Given the description of an element on the screen output the (x, y) to click on. 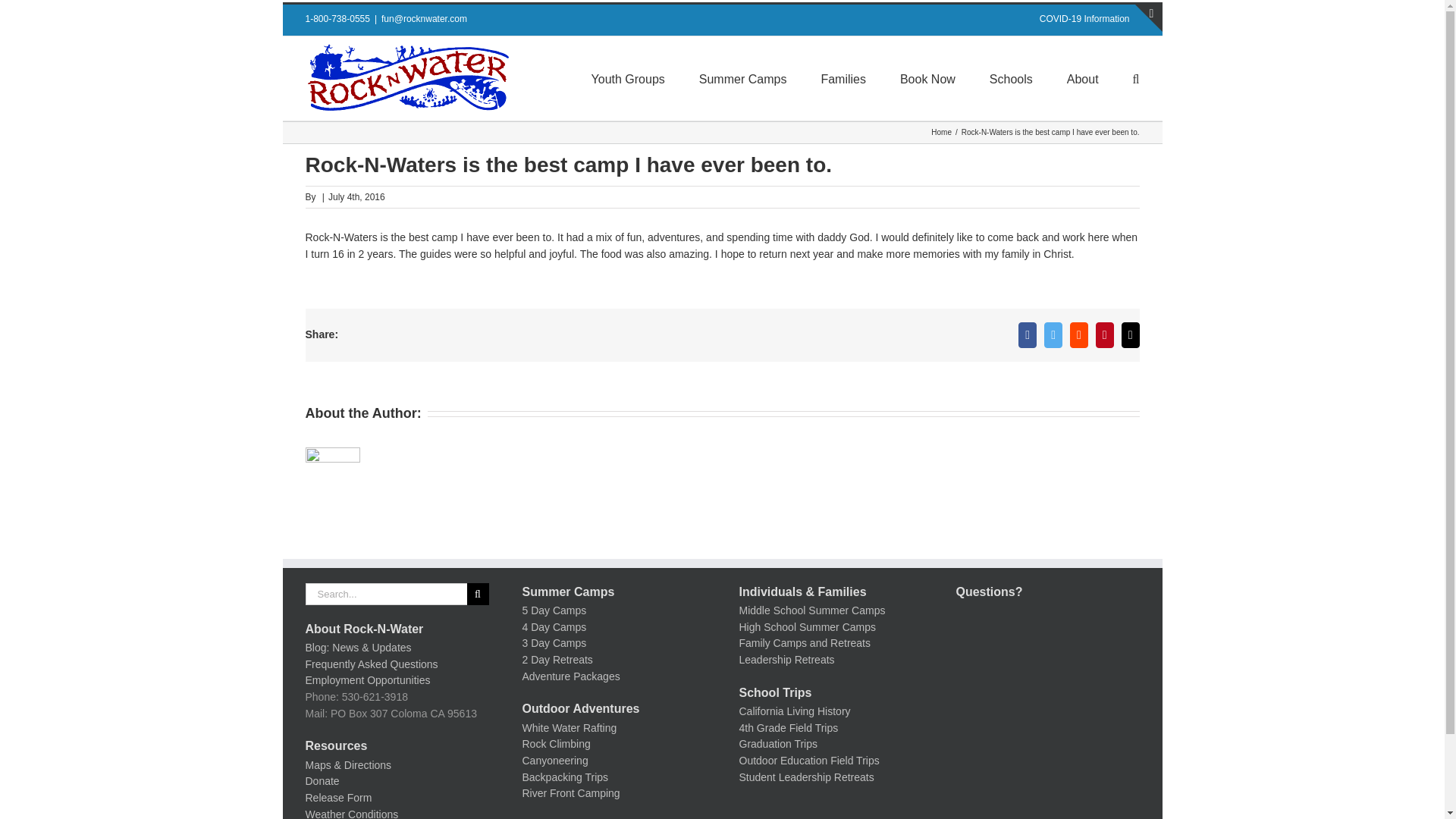
COVID-19 Information (1084, 19)
About Rock-N-Water (363, 628)
Frequently Asked Questions (371, 664)
Summer Camps (742, 78)
Home (941, 131)
Call Rock-N-Water (336, 18)
1-800-738-0555 (336, 18)
